Given the description of an element on the screen output the (x, y) to click on. 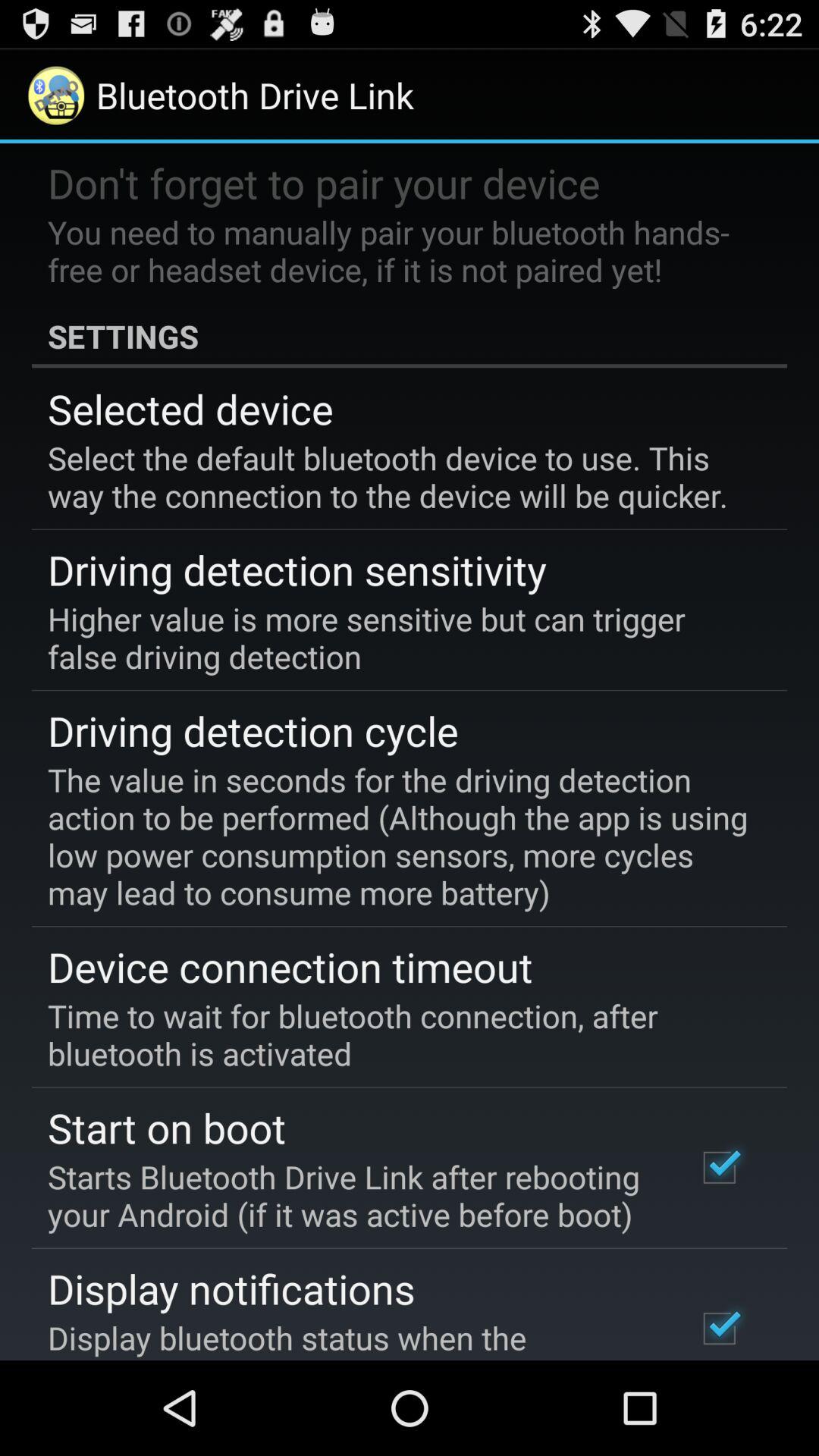
scroll to time to wait (399, 1034)
